Given the description of an element on the screen output the (x, y) to click on. 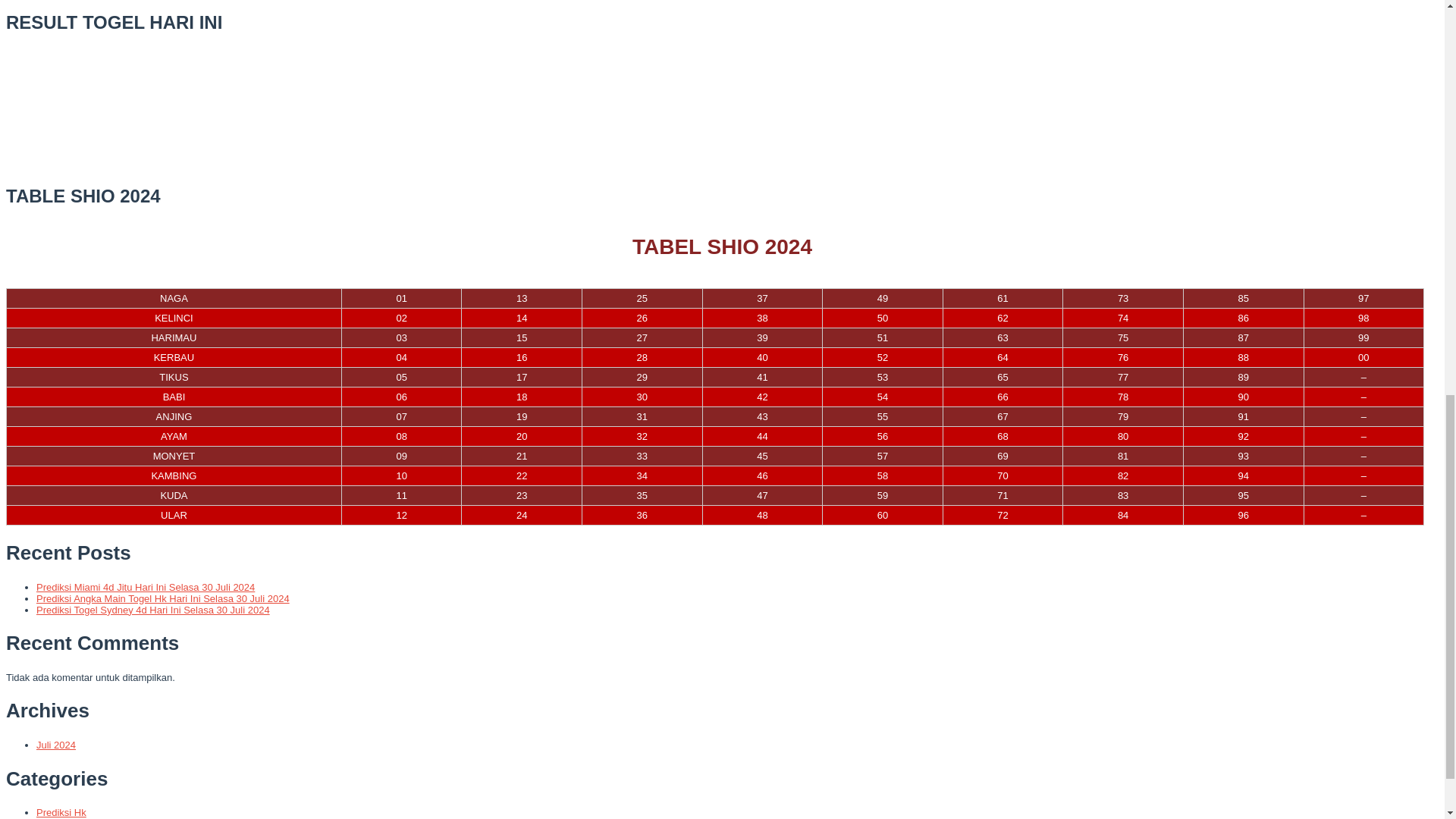
Prediksi Miami 4d Jitu Hari Ini Selasa 30 Juli 2024 (145, 586)
Juli 2024 (55, 745)
Prediksi Hk (60, 812)
Prediksi Angka Main Togel Hk Hari Ini Selasa 30 Juli 2024 (162, 598)
Prediksi Miami (68, 818)
Prediksi Togel Sydney 4d Hari Ini Selasa 30 Juli 2024 (152, 609)
